Given the description of an element on the screen output the (x, y) to click on. 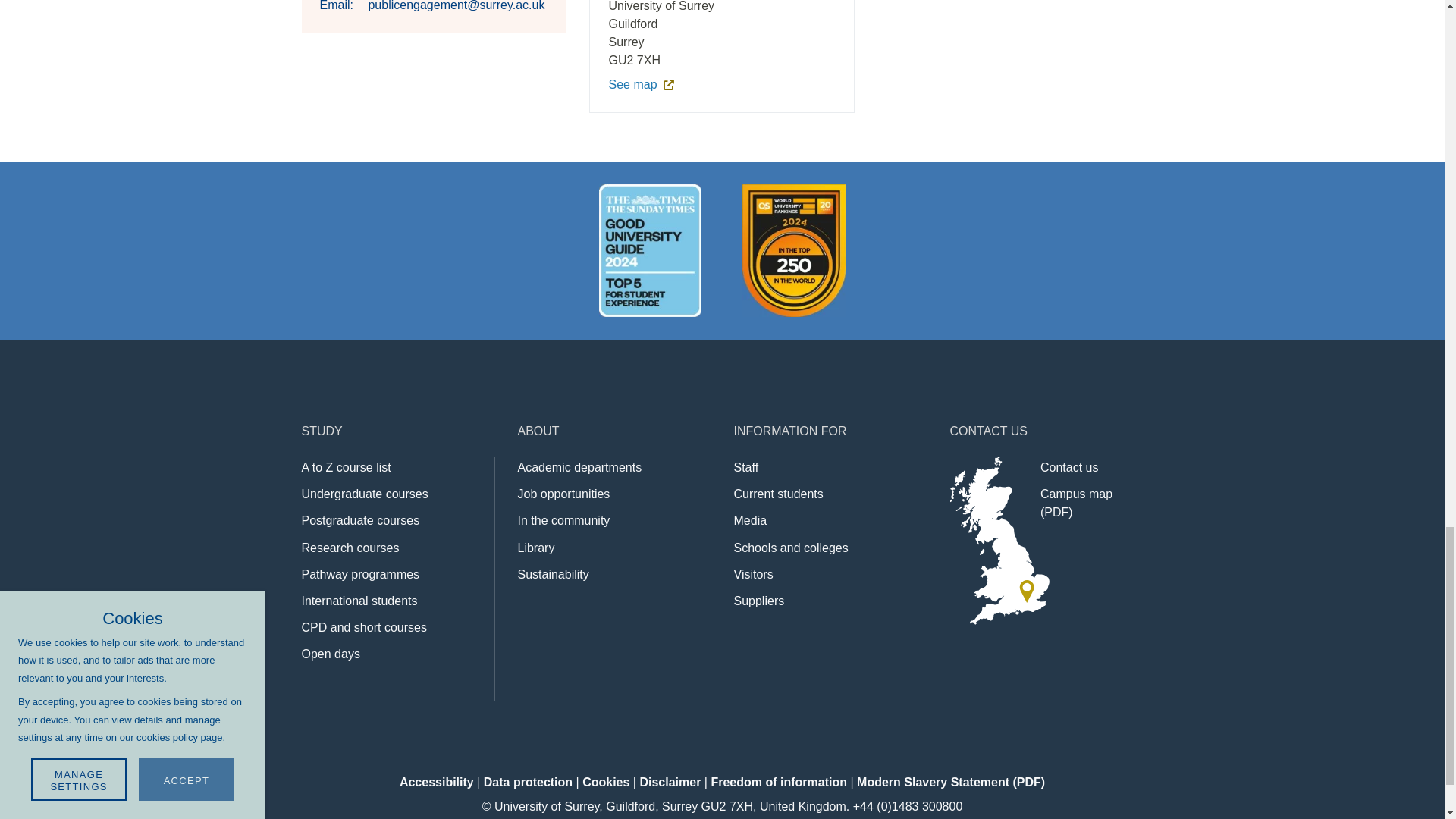
Modern slavery statement (951, 781)
See map (665, 85)
University of Surrey campus map (1076, 502)
